Given the description of an element on the screen output the (x, y) to click on. 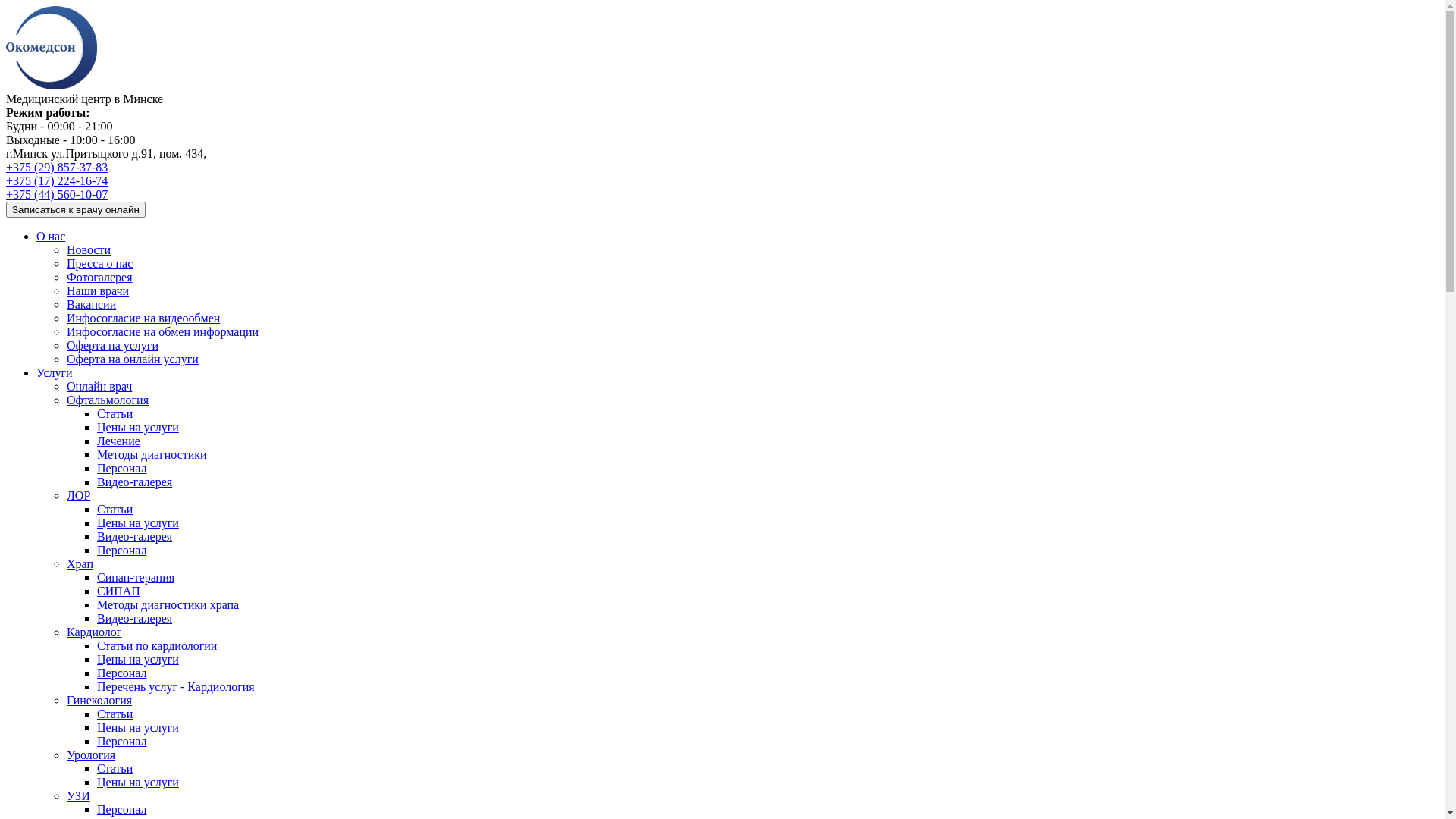
+375 (44) 560-10-07 Element type: text (56, 194)
+375 (29) 857-37-83 Element type: text (56, 166)
+375 (17) 224-16-74 Element type: text (56, 180)
